Given the description of an element on the screen output the (x, y) to click on. 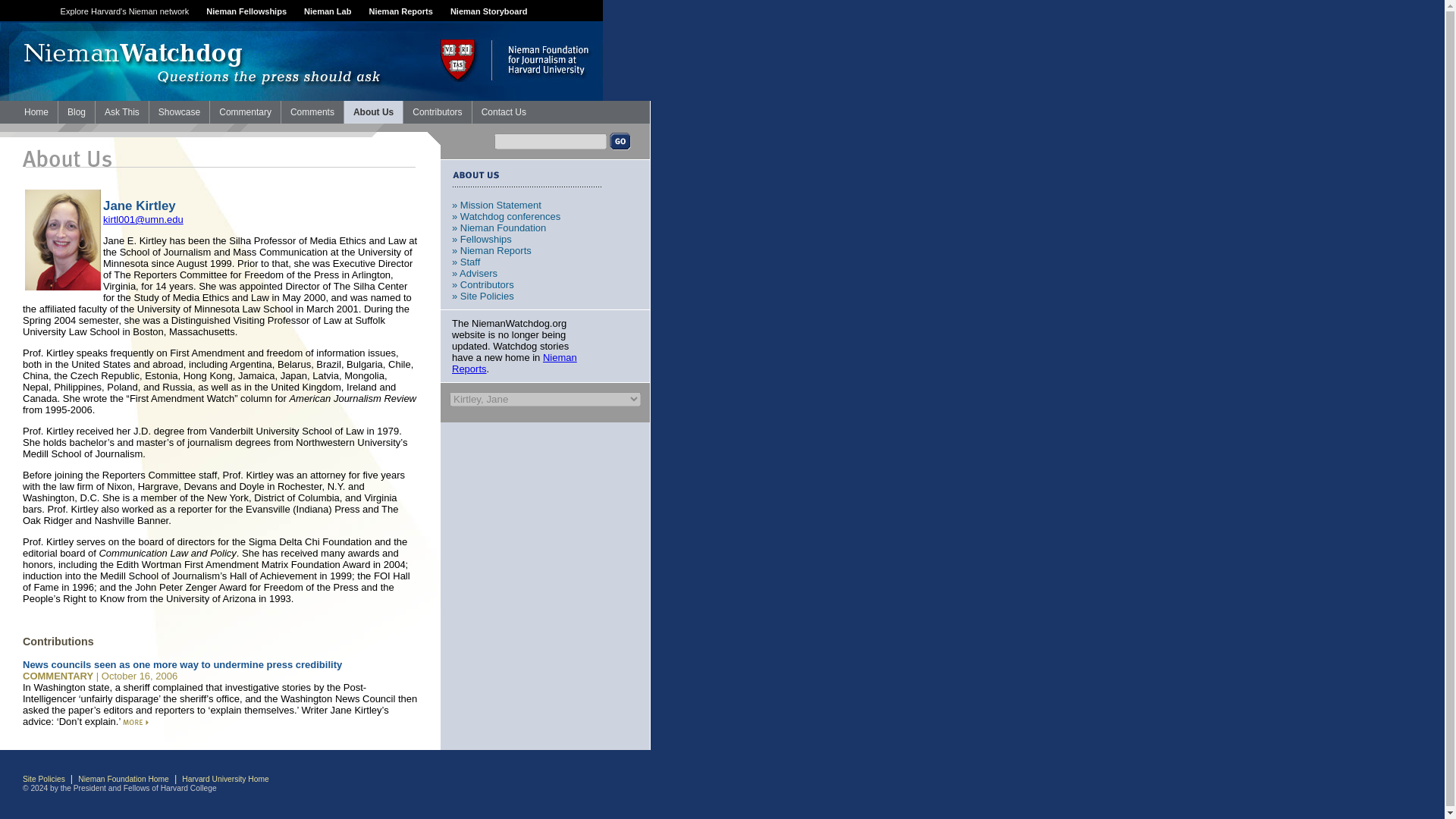
Commentary (245, 112)
Blog (76, 112)
Nieman Reports (513, 363)
Site Policies (44, 778)
Contributors (436, 112)
Comments (312, 112)
Nieman Reports (400, 10)
Nieman Storyboard (488, 10)
About Us (373, 112)
Home (36, 112)
